Given the description of an element on the screen output the (x, y) to click on. 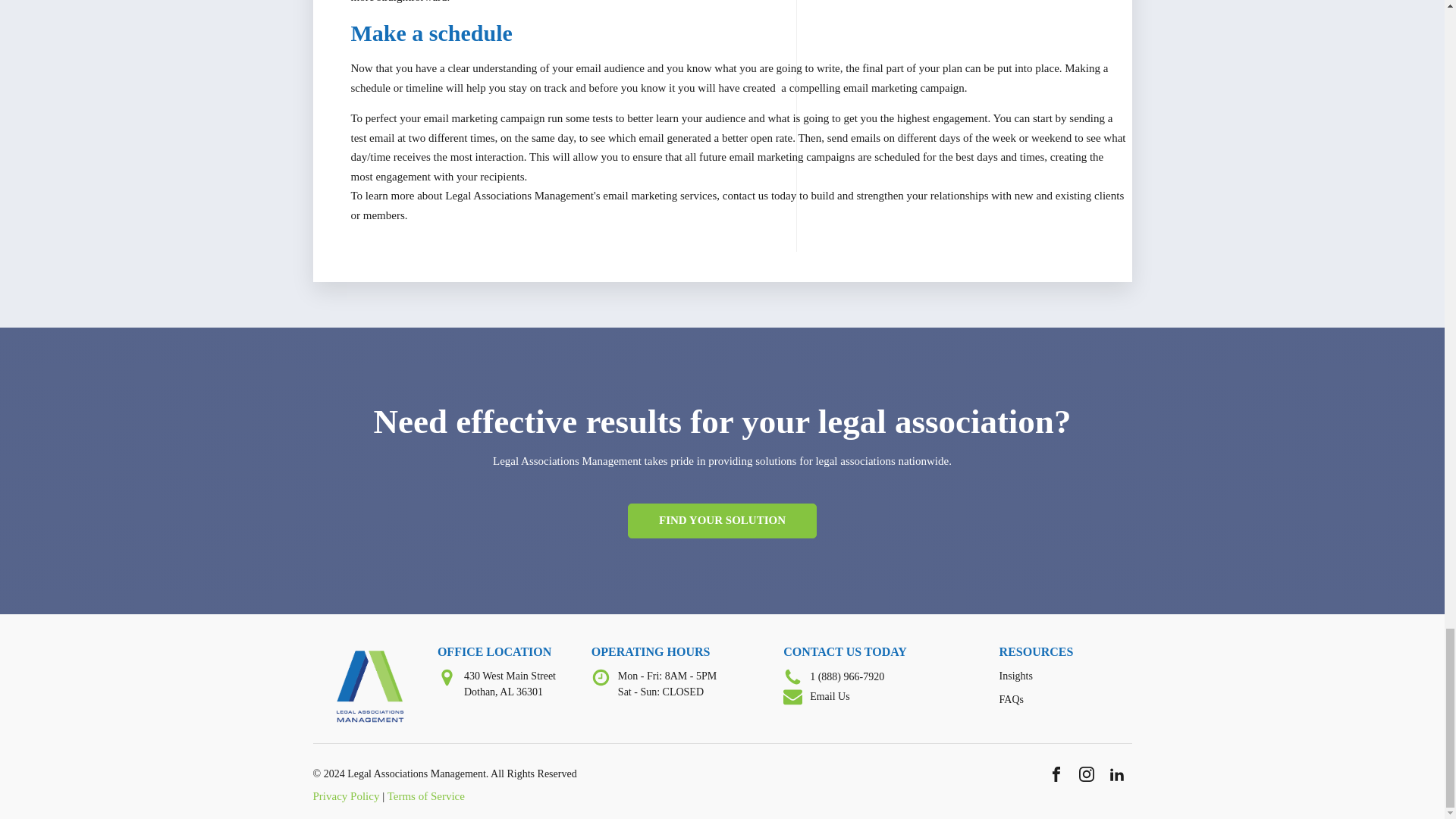
FAQs (1010, 699)
Insights (1015, 675)
Email Us (829, 696)
Terms of Service (425, 796)
FIND YOUR SOLUTION (721, 520)
Privacy Policy (345, 796)
